Given the description of an element on the screen output the (x, y) to click on. 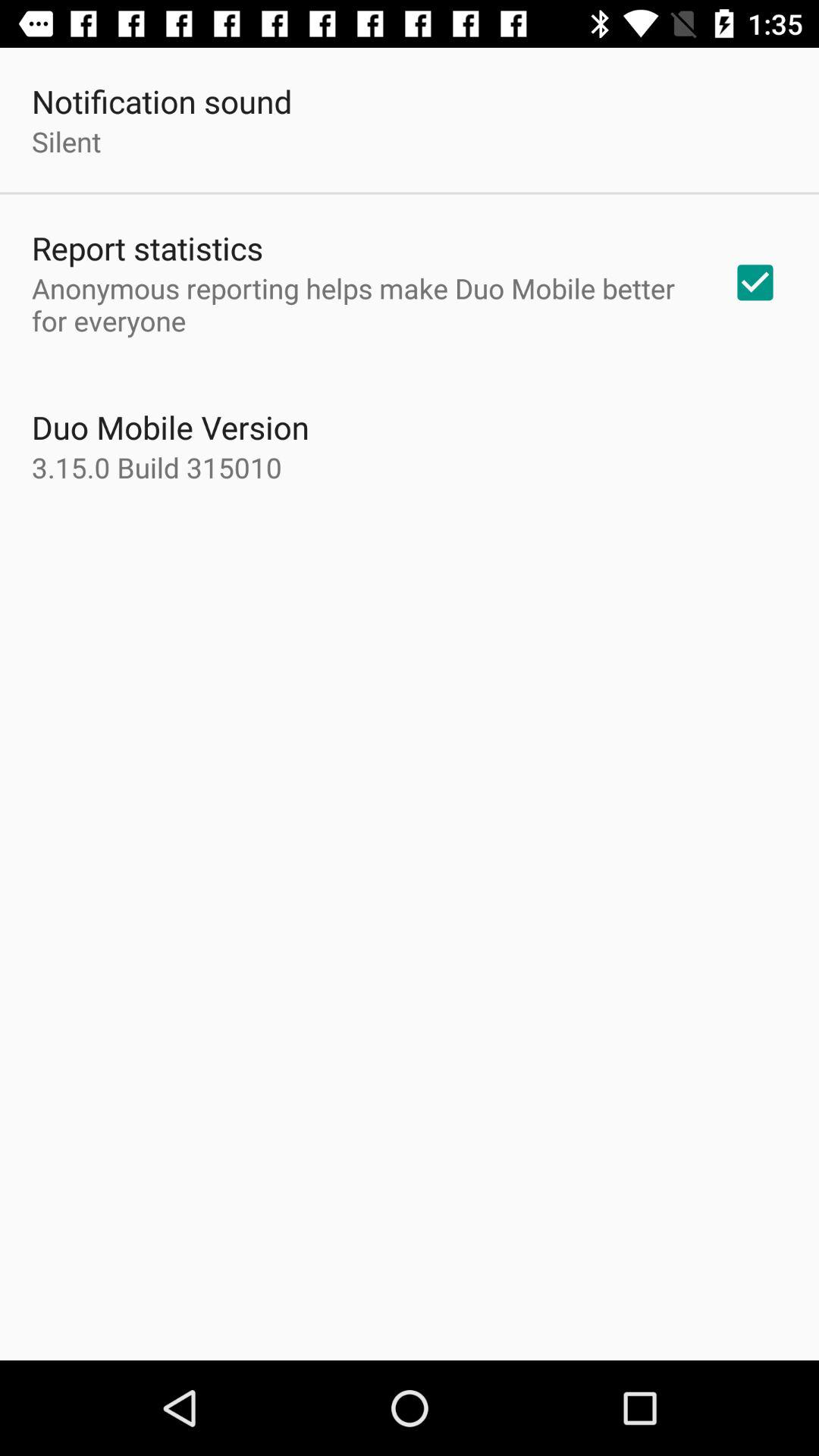
tap icon at the top right corner (755, 282)
